Given the description of an element on the screen output the (x, y) to click on. 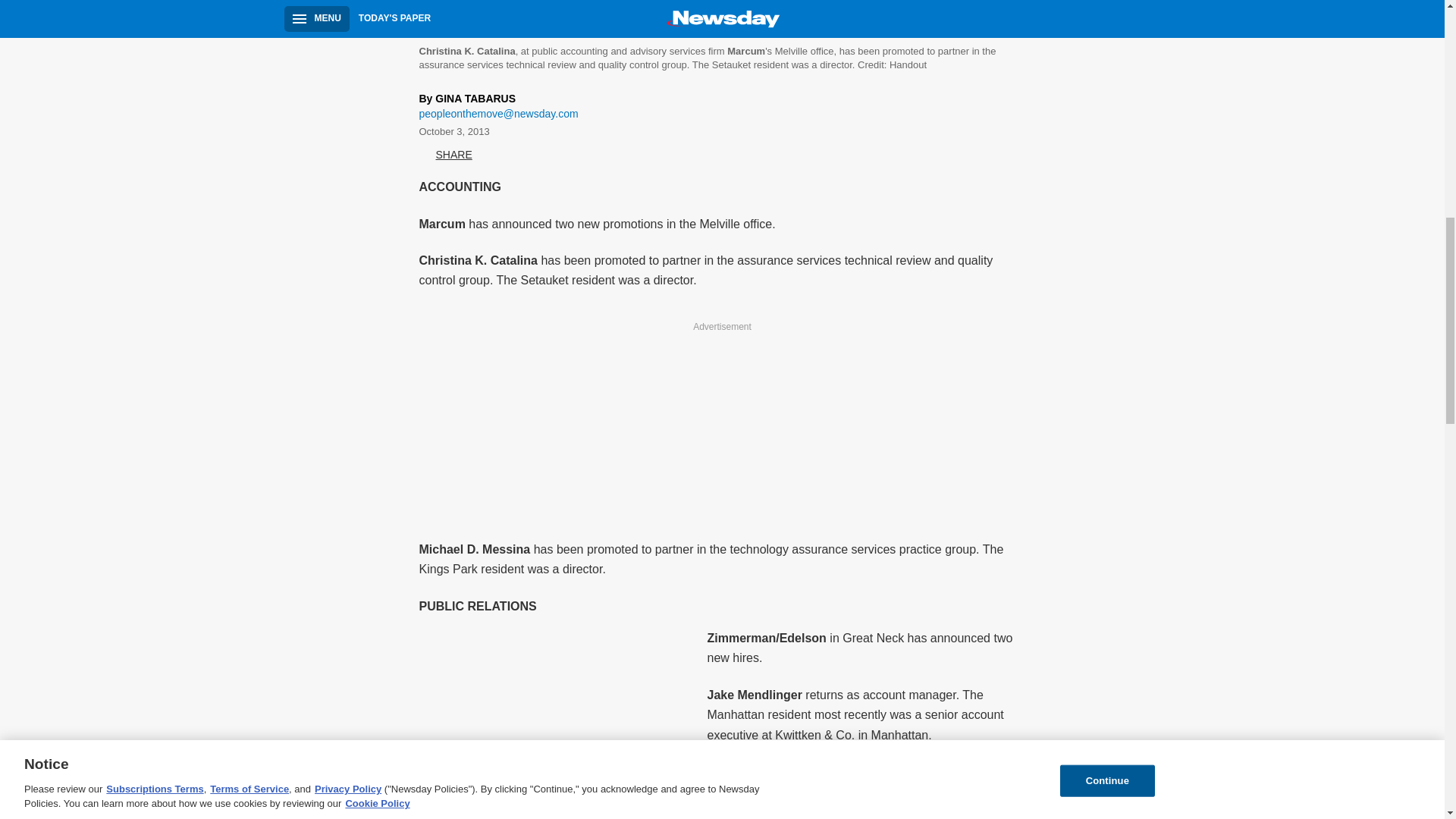
SHARE (445, 155)
